Given the description of an element on the screen output the (x, y) to click on. 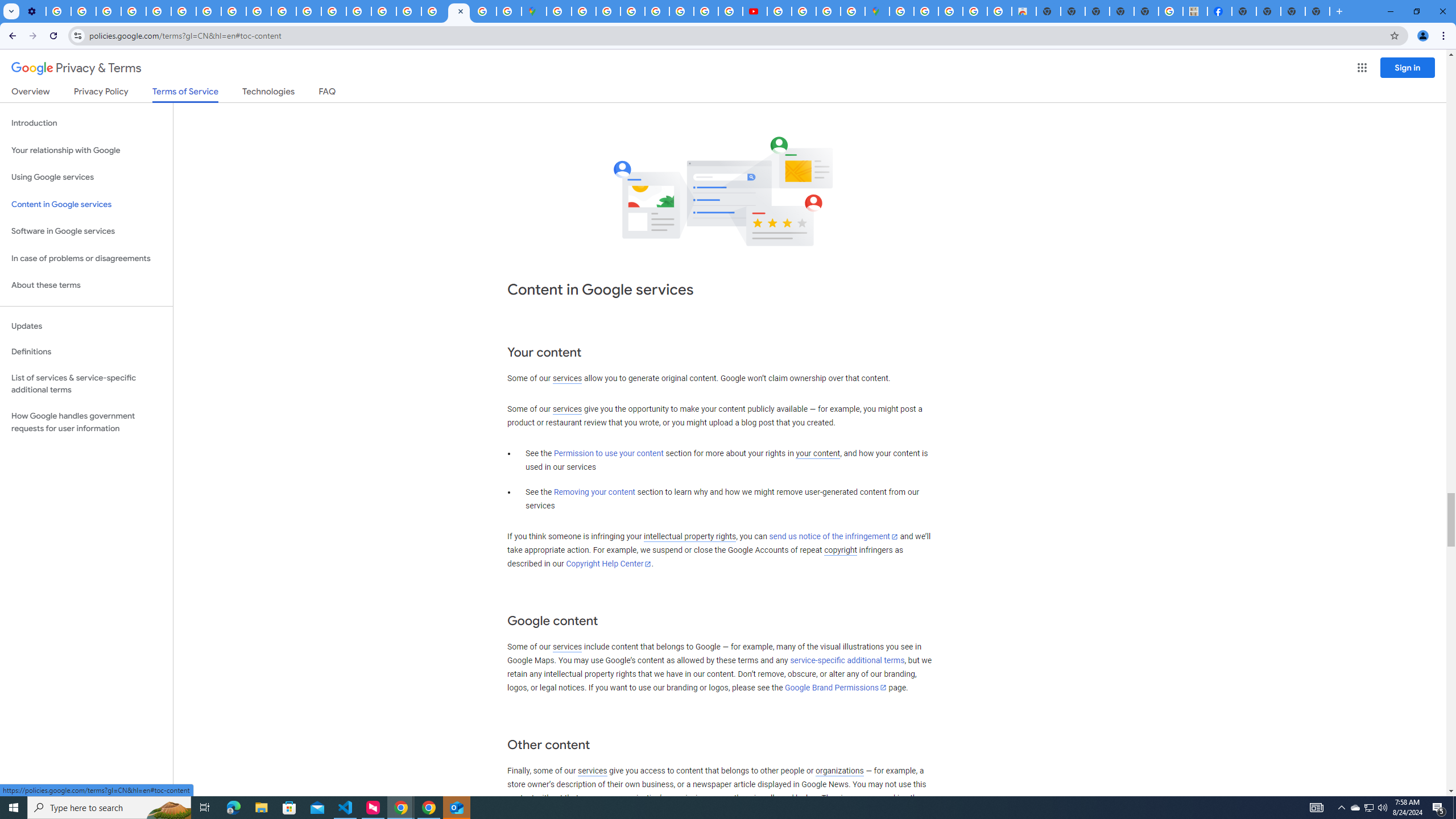
Learn how to find your photos - Google Photos Help (83, 11)
Privacy Help Center - Policies Help (705, 11)
Privacy Help Center - Policies Help (680, 11)
Chrome Web Store - Shopping (1023, 11)
your content (817, 453)
